Given the description of an element on the screen output the (x, y) to click on. 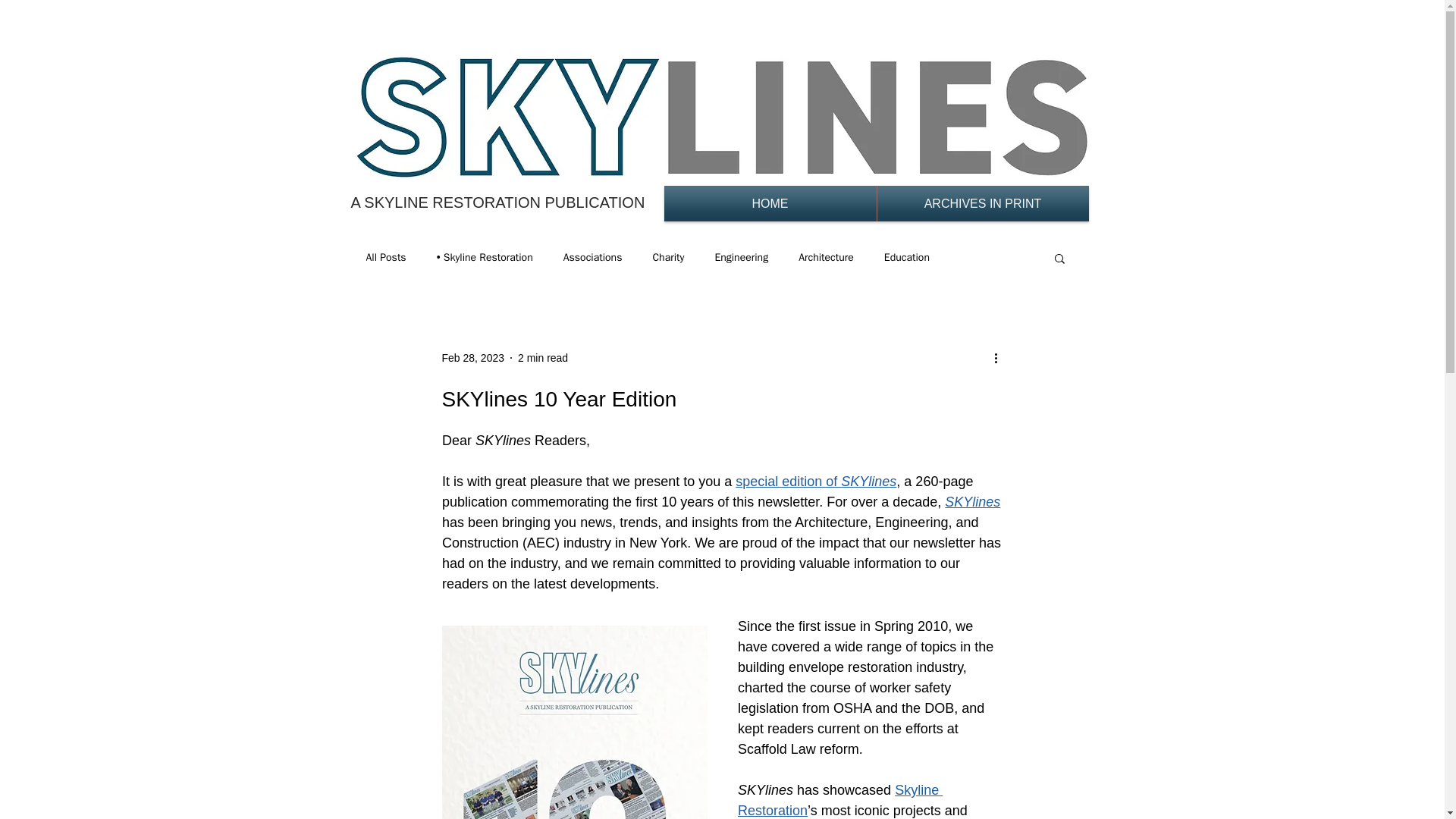
HOME (769, 203)
Charity (668, 257)
2 min read (542, 357)
SKYlines (972, 501)
All Posts (385, 257)
ARCHIVES IN PRINT (981, 203)
Skyline Restoration (839, 800)
Education (906, 257)
Engineering (741, 257)
Architecture (825, 257)
